Given the description of an element on the screen output the (x, y) to click on. 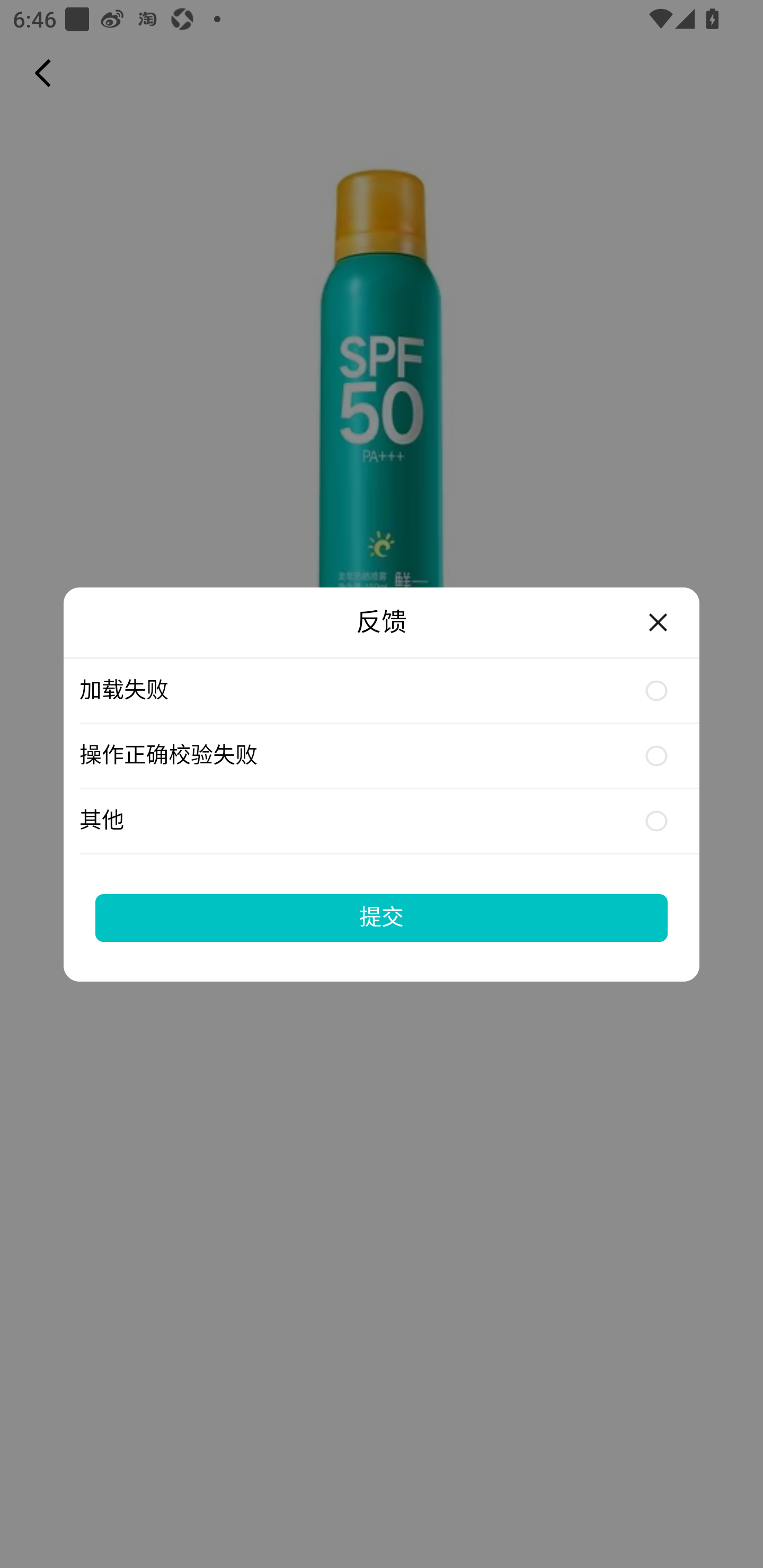
提交 (381, 917)
